Given the description of an element on the screen output the (x, y) to click on. 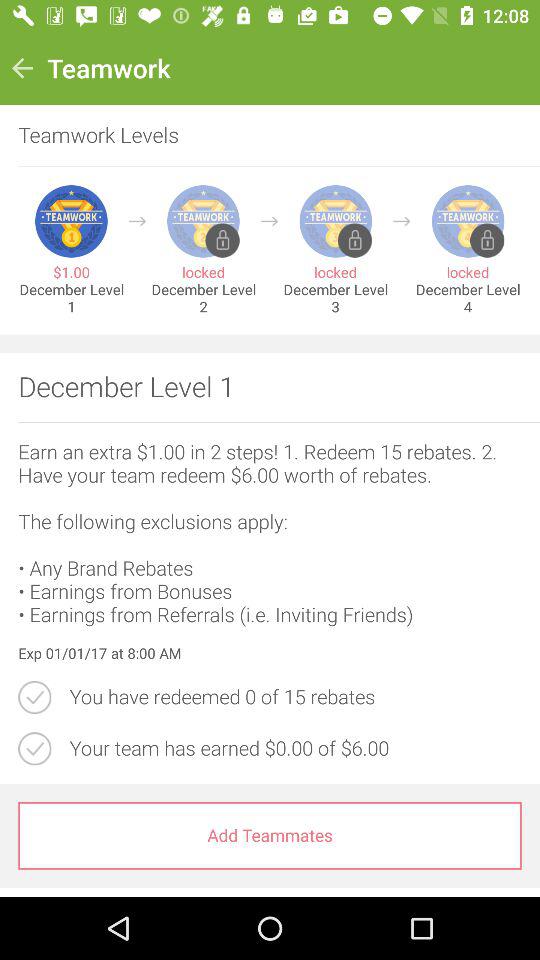
tap item above your team has (295, 697)
